Given the description of an element on the screen output the (x, y) to click on. 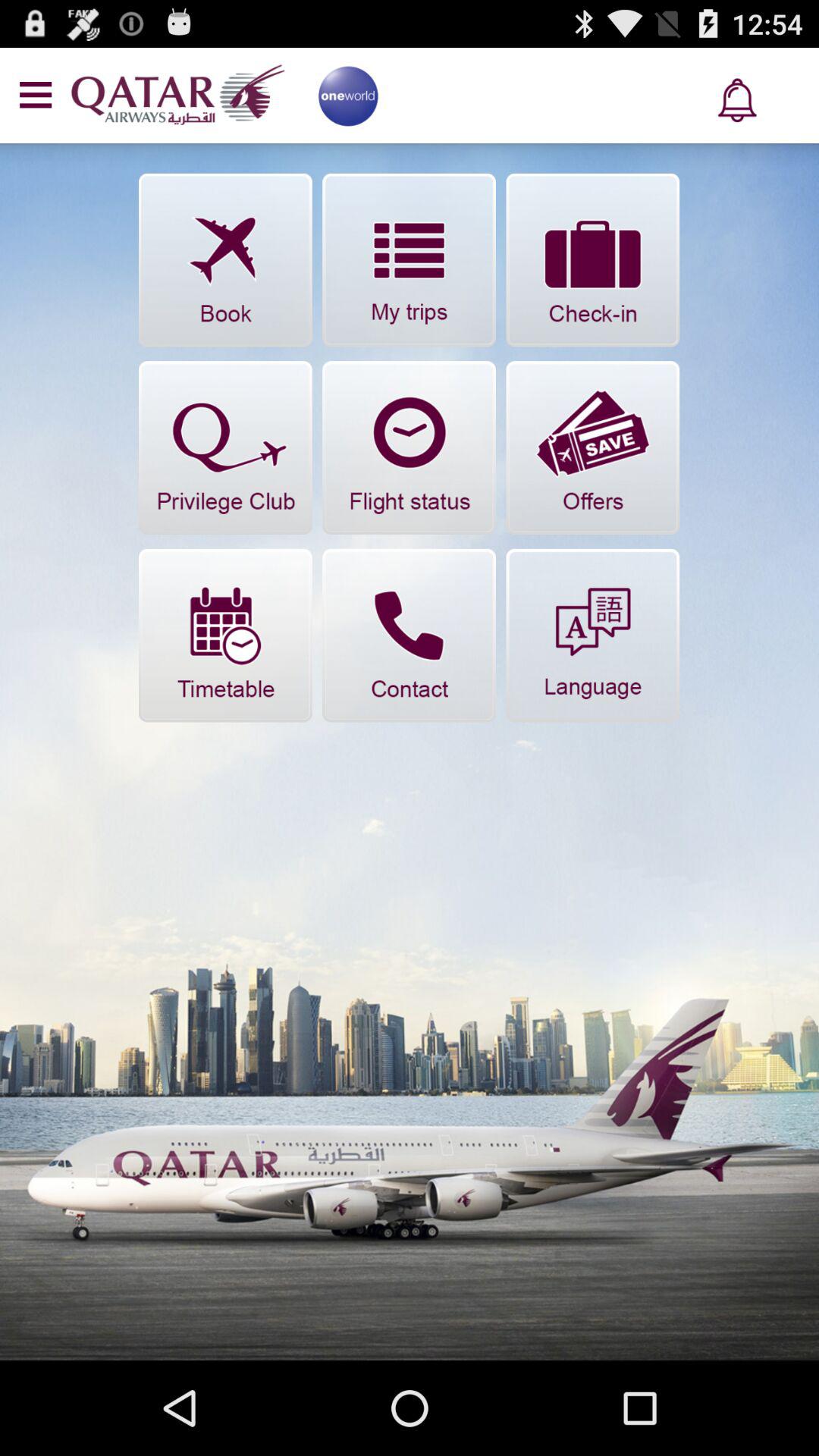
language (592, 635)
